Given the description of an element on the screen output the (x, y) to click on. 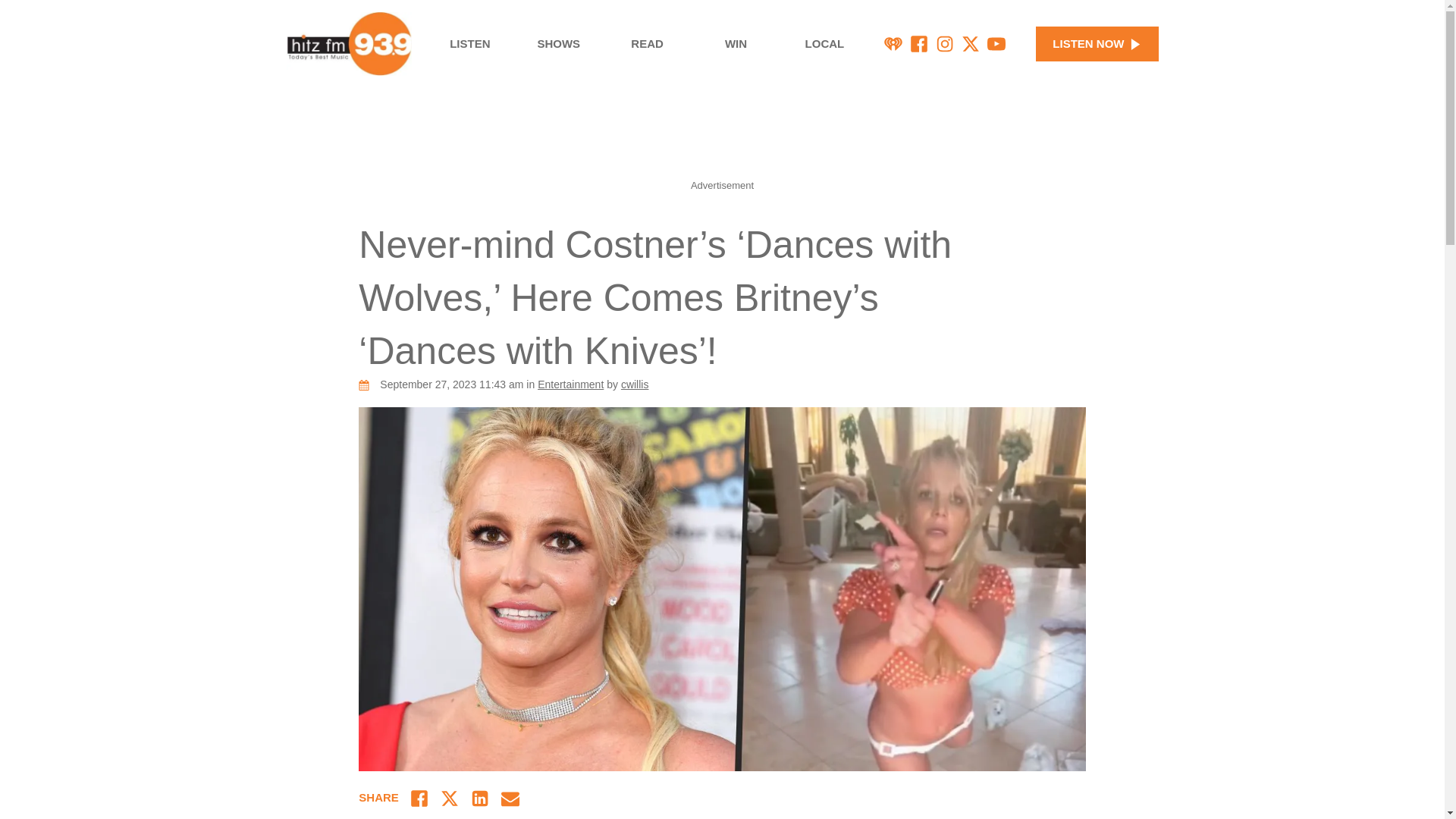
Facebook (919, 44)
LISTEN (469, 43)
iHeart (892, 44)
READ (646, 43)
WIN (735, 43)
LISTEN NOW (1096, 44)
SHOWS (557, 43)
3rd party ad content (721, 139)
Posts by cwillis (635, 384)
LOCAL (824, 43)
Instagram (944, 44)
YouTube (996, 44)
